Given the description of an element on the screen output the (x, y) to click on. 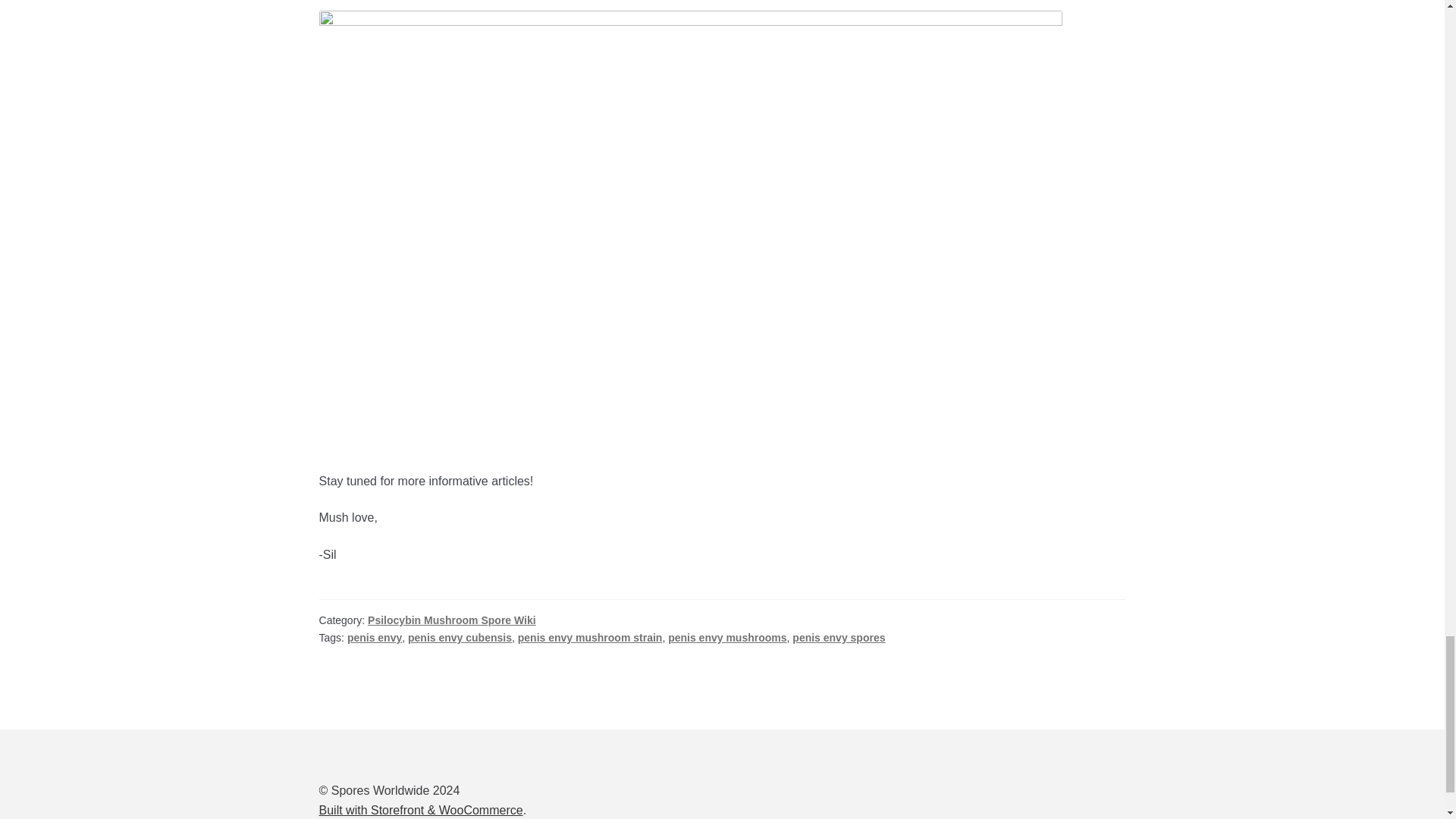
WooCommerce - The Best eCommerce Platform for WordPress (420, 809)
